Given the description of an element on the screen output the (x, y) to click on. 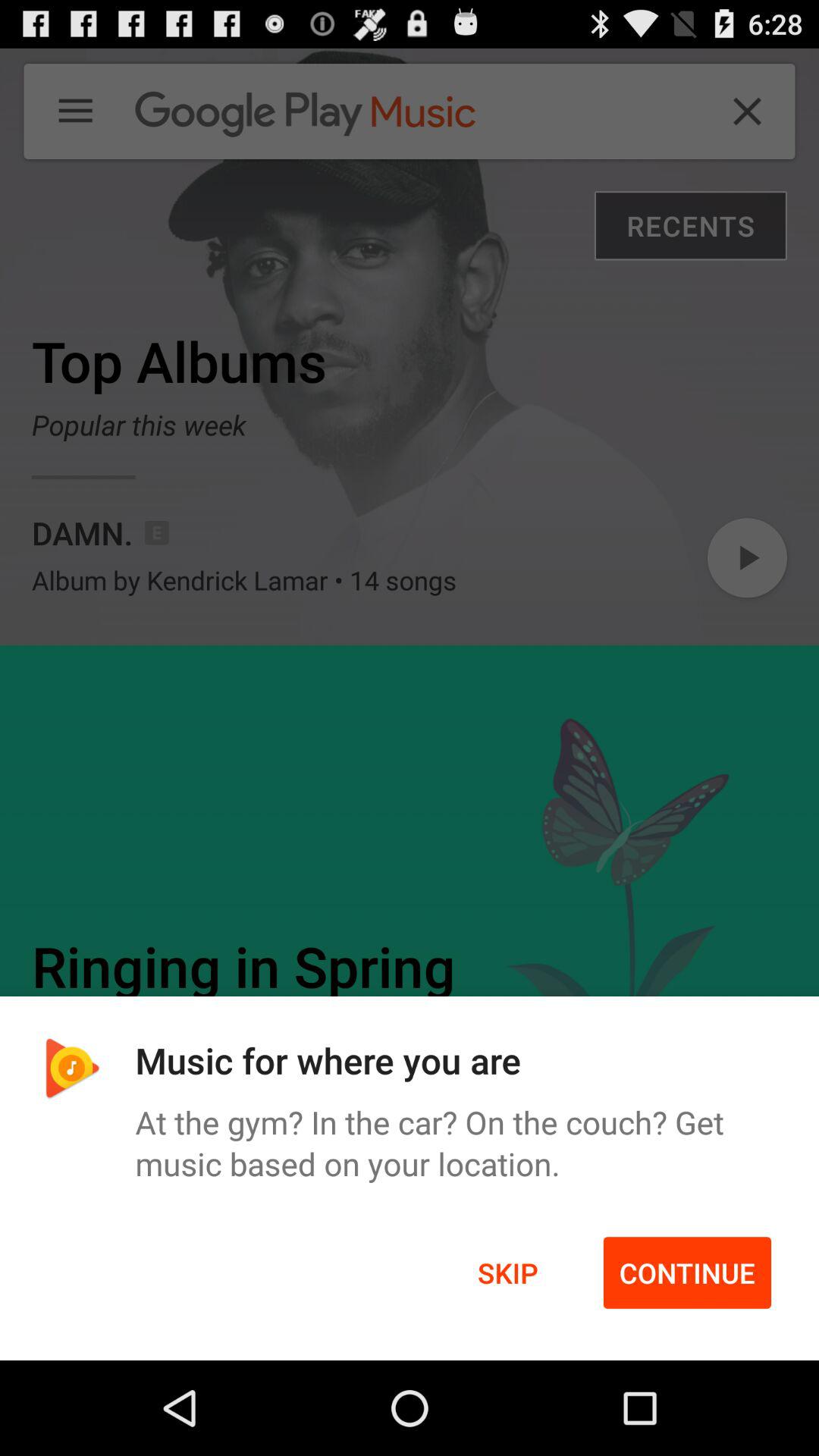
turn on icon next to the continue item (507, 1272)
